Given the description of an element on the screen output the (x, y) to click on. 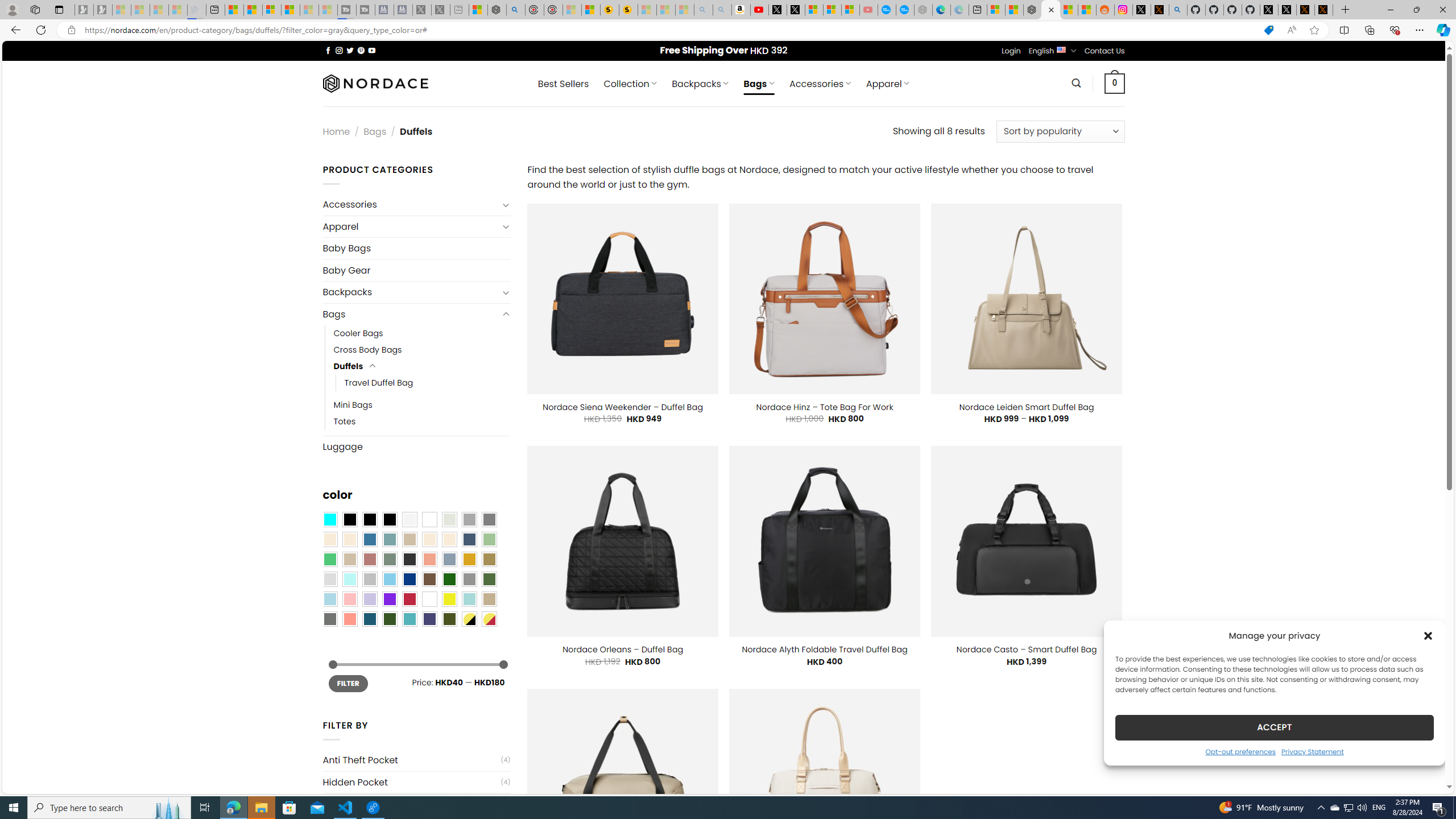
Dull Nickle (329, 618)
Follow on Facebook (327, 49)
English (1061, 49)
Caramel (429, 539)
X Privacy Policy (1324, 9)
The most popular Google 'how to' searches (904, 9)
Black-Brown (389, 519)
Login (1010, 50)
Baby Gear (416, 270)
